Given the description of an element on the screen output the (x, y) to click on. 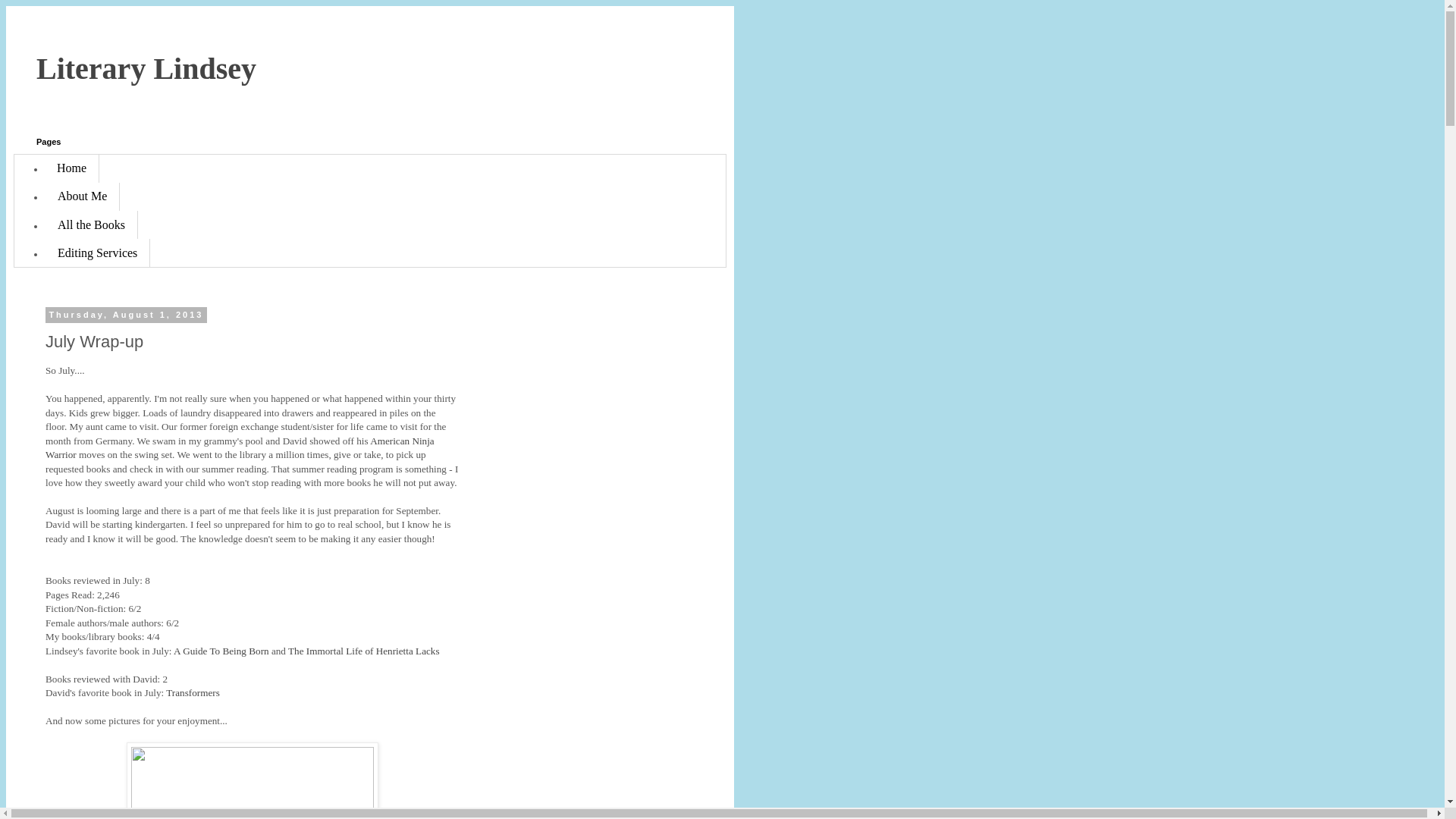
American Ninja Warrior (239, 447)
Home (72, 168)
Editing Services (97, 252)
All the Books (91, 224)
The Immortal Life of Henrietta Lacks (363, 650)
About Me (82, 196)
Literary Lindsey (146, 68)
Transformers  (193, 692)
A Guide To Being Born (221, 650)
